Given the description of an element on the screen output the (x, y) to click on. 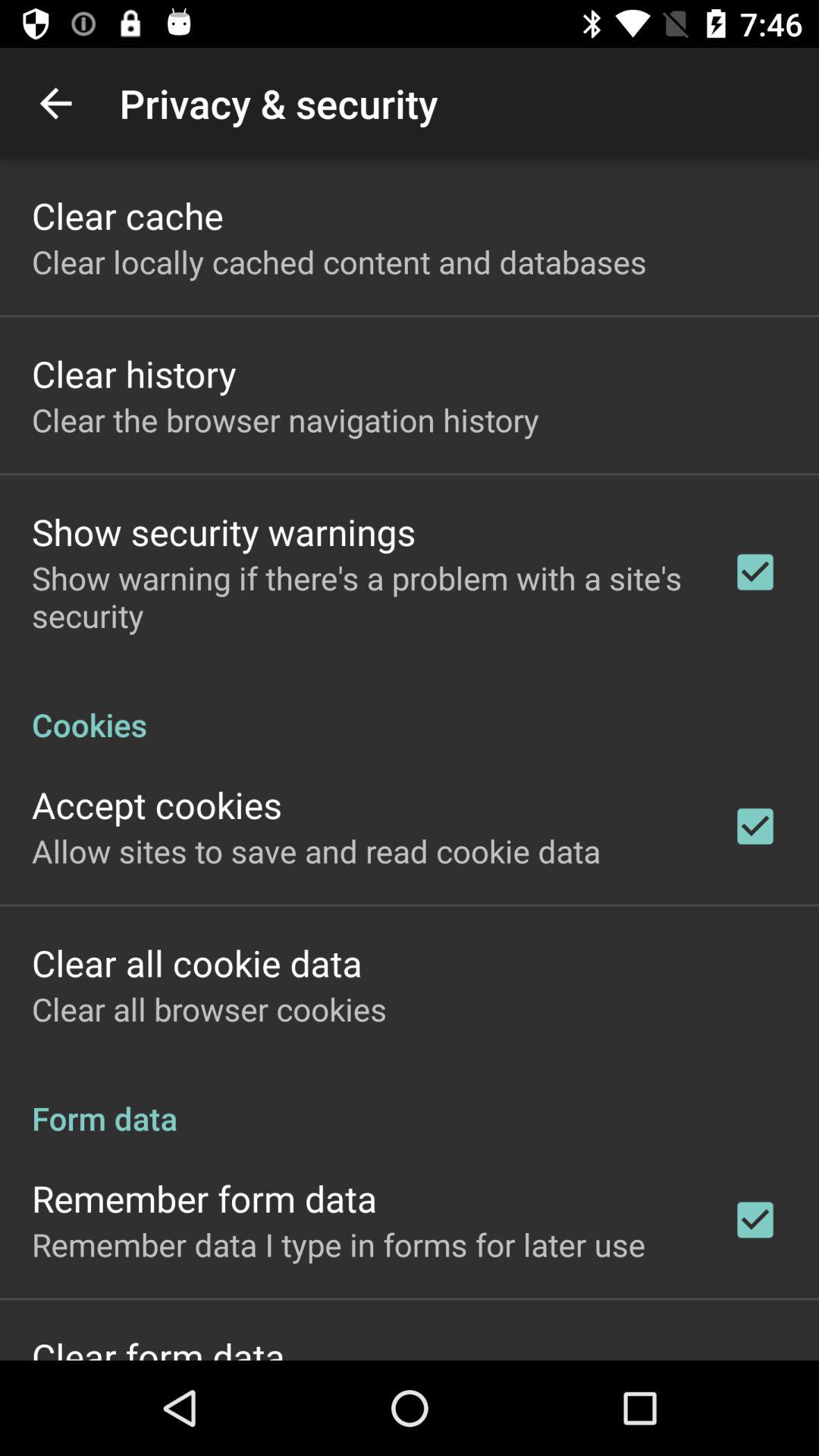
open the item below clear cache (338, 261)
